Given the description of an element on the screen output the (x, y) to click on. 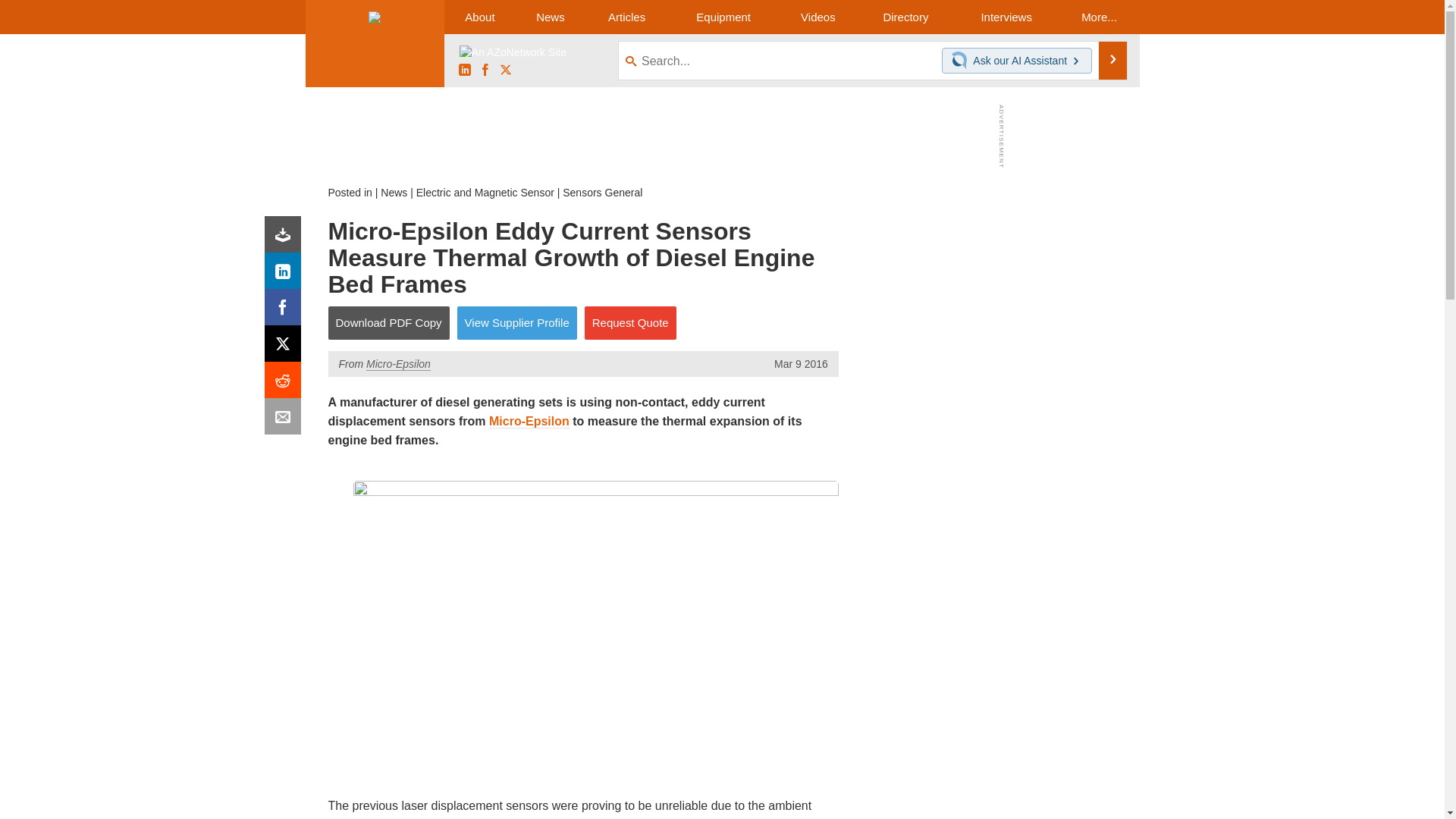
Facebook (285, 311)
About (479, 17)
X (505, 70)
News (550, 17)
Download PDF copy (285, 238)
Articles (626, 17)
Interviews (1006, 17)
Facebook (485, 70)
News (393, 192)
LinkedIn (285, 275)
X (285, 348)
Chat with our AI Assistant Ask our AI Assistant (1017, 60)
Directory (905, 17)
More... (1098, 17)
Sensors General (602, 192)
